Given the description of an element on the screen output the (x, y) to click on. 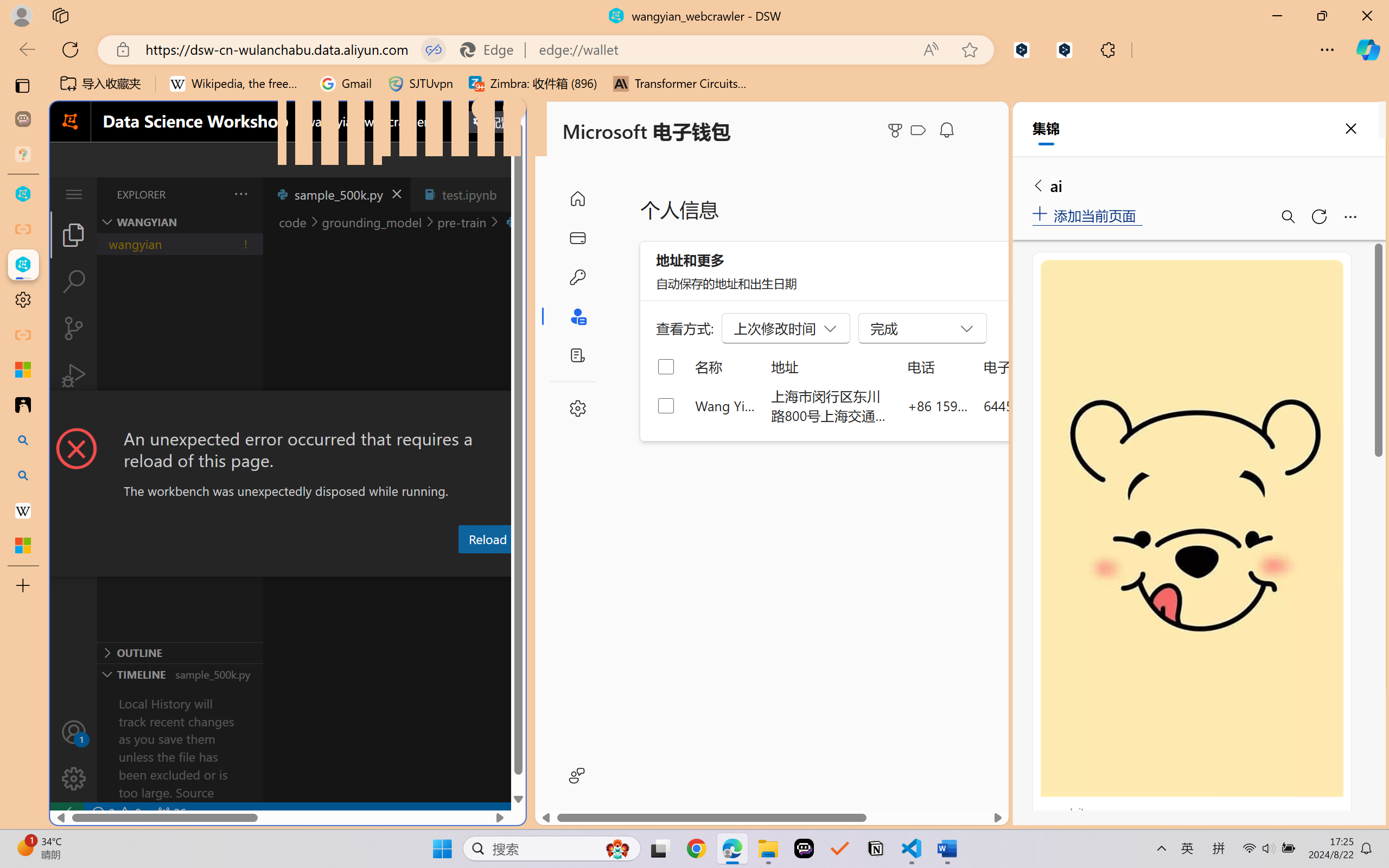
Microsoft Cashback (920, 130)
Terminal (Ctrl+`) (553, 565)
Debug Console (Ctrl+Shift+Y) (463, 565)
